Given the description of an element on the screen output the (x, y) to click on. 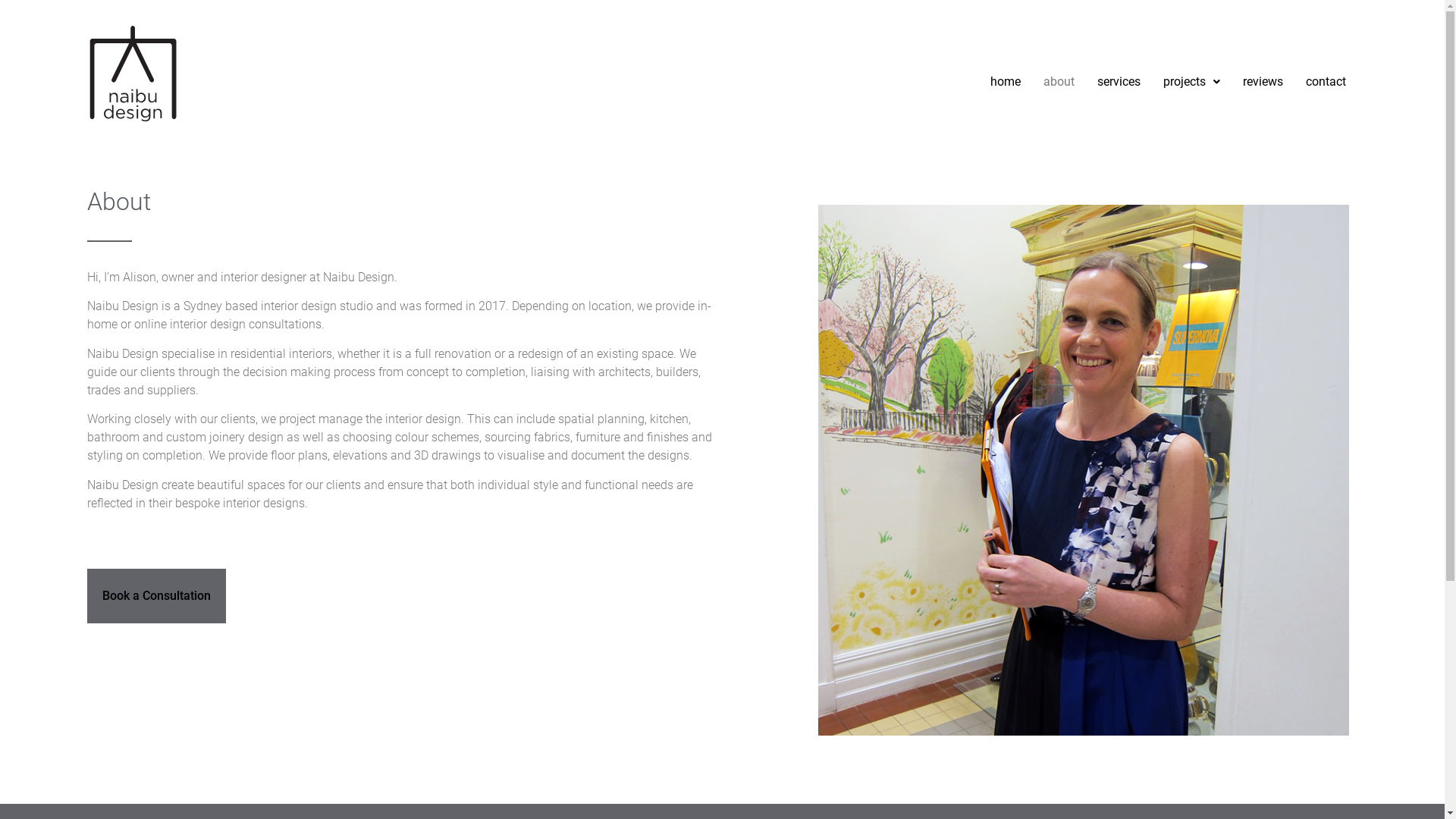
services Element type: text (1118, 81)
home Element type: text (1005, 81)
projects Element type: text (1191, 81)
contact Element type: text (1325, 81)
reviews Element type: text (1262, 81)
Book a Consultation Element type: text (156, 595)
about Element type: text (1058, 81)
